Given the description of an element on the screen output the (x, y) to click on. 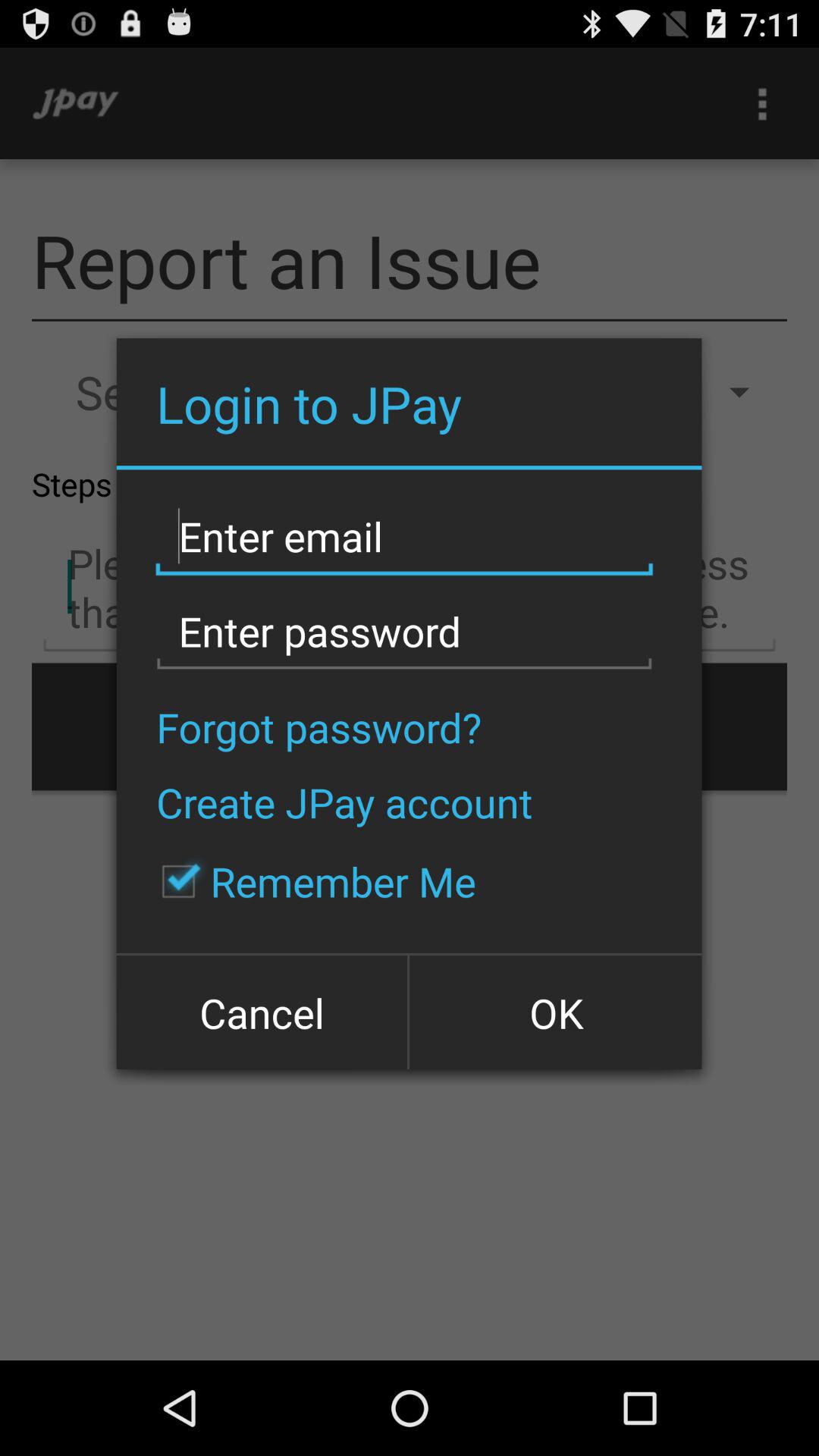
choose the item at the bottom right corner (554, 1011)
